Given the description of an element on the screen output the (x, y) to click on. 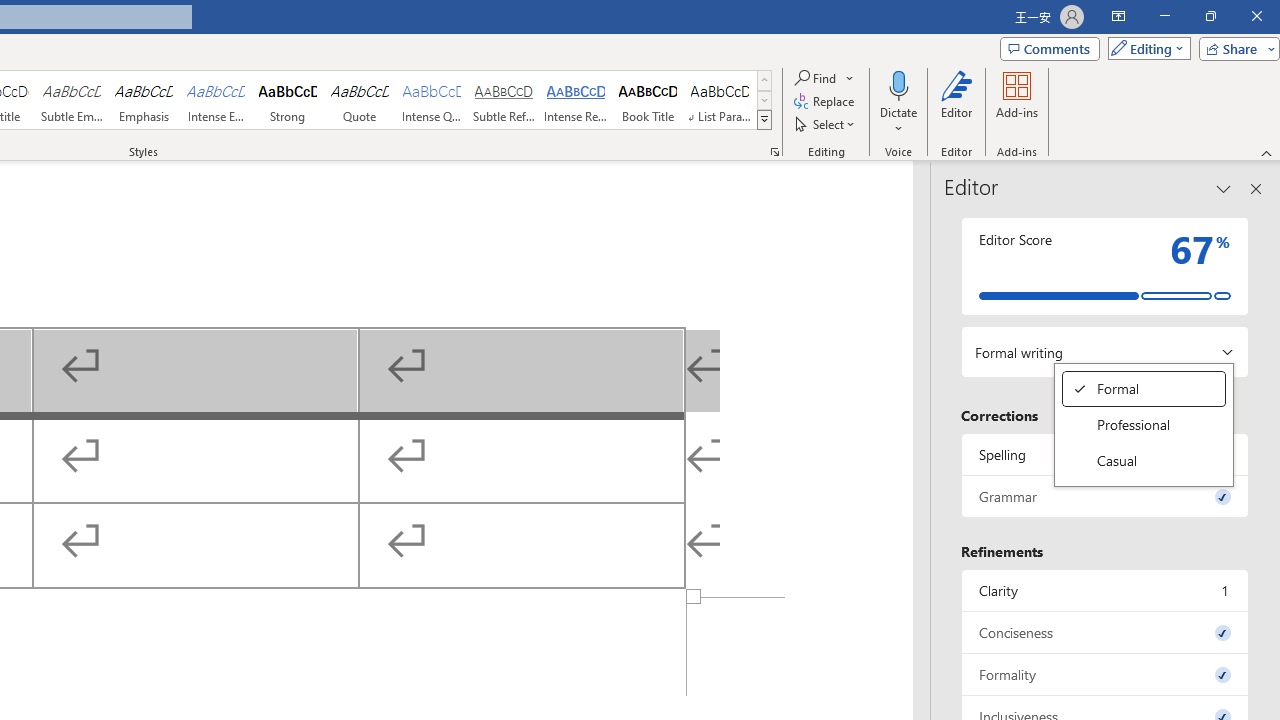
Intense Reference (575, 100)
Book Title (647, 100)
Editor Score 67% (1105, 266)
Editing (1144, 47)
Quote (359, 100)
